Given the description of an element on the screen output the (x, y) to click on. 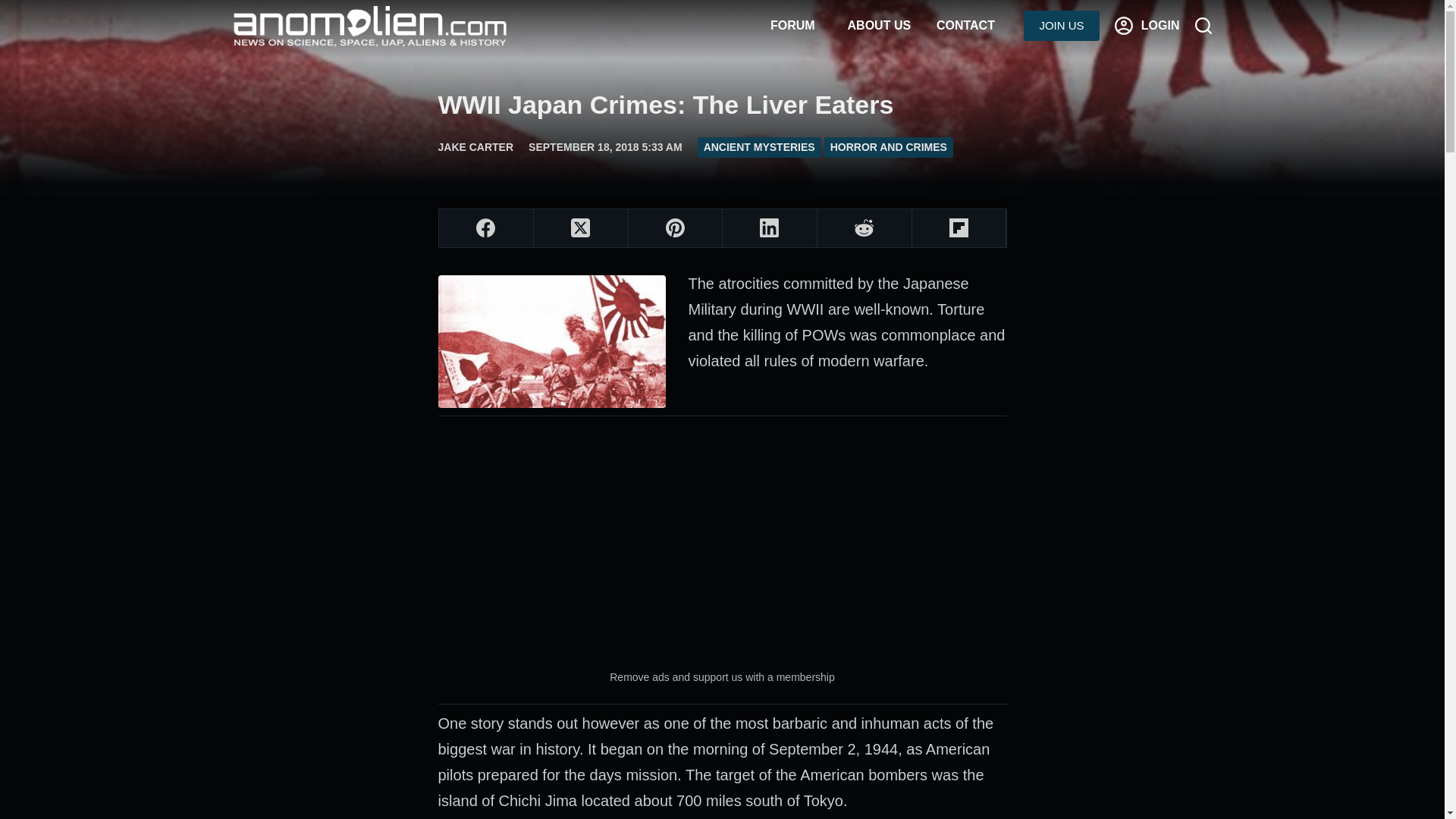
Skip to content (15, 7)
Discussion Forum (792, 25)
Advertisement (722, 540)
WWII Japan Crimes: The Liver Eaters (722, 104)
Posts by Jake Carter (475, 146)
